Given the description of an element on the screen output the (x, y) to click on. 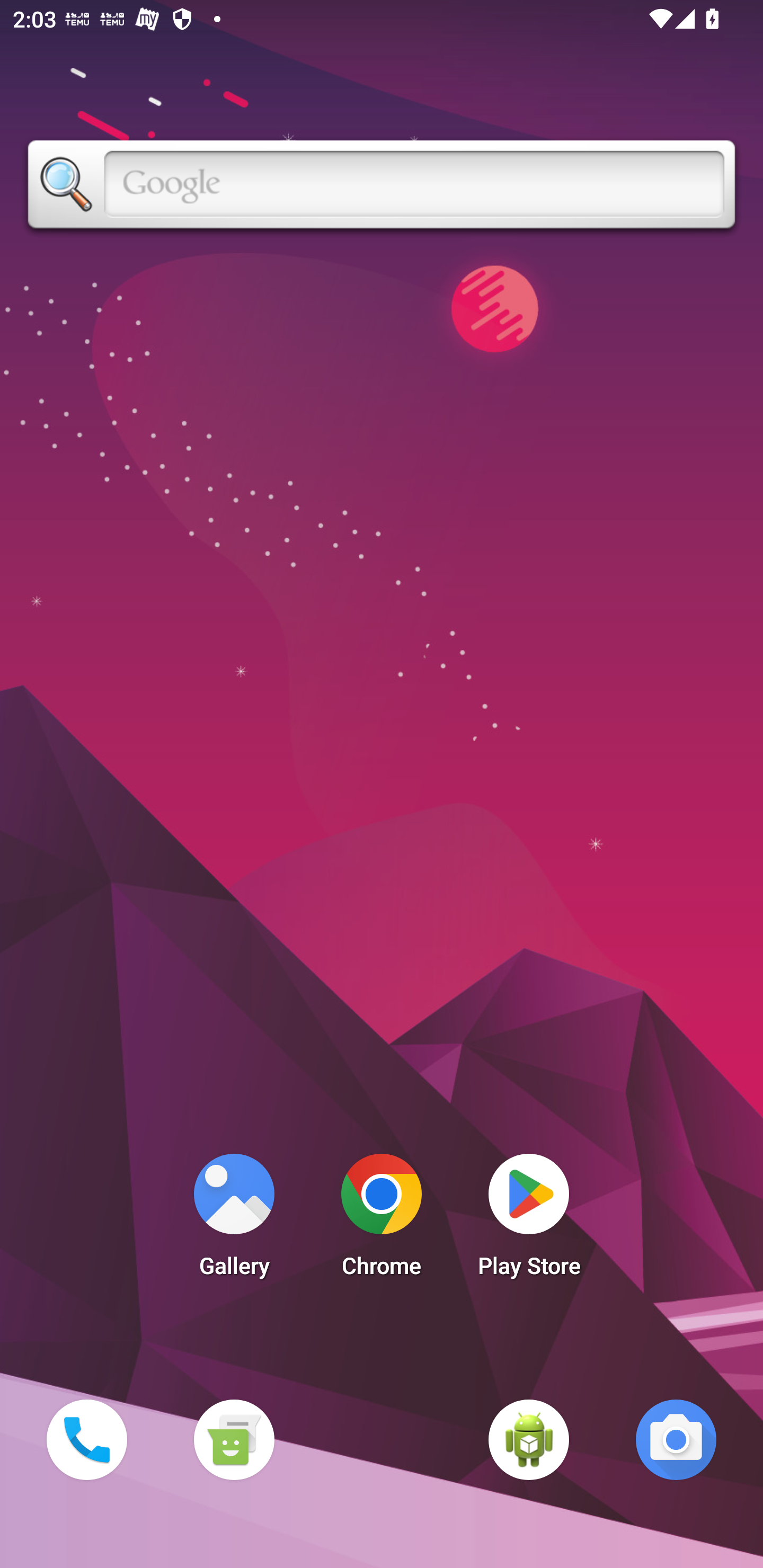
Gallery (233, 1220)
Chrome (381, 1220)
Play Store (528, 1220)
Phone (86, 1439)
Messaging (233, 1439)
WebView Browser Tester (528, 1439)
Camera (676, 1439)
